Given the description of an element on the screen output the (x, y) to click on. 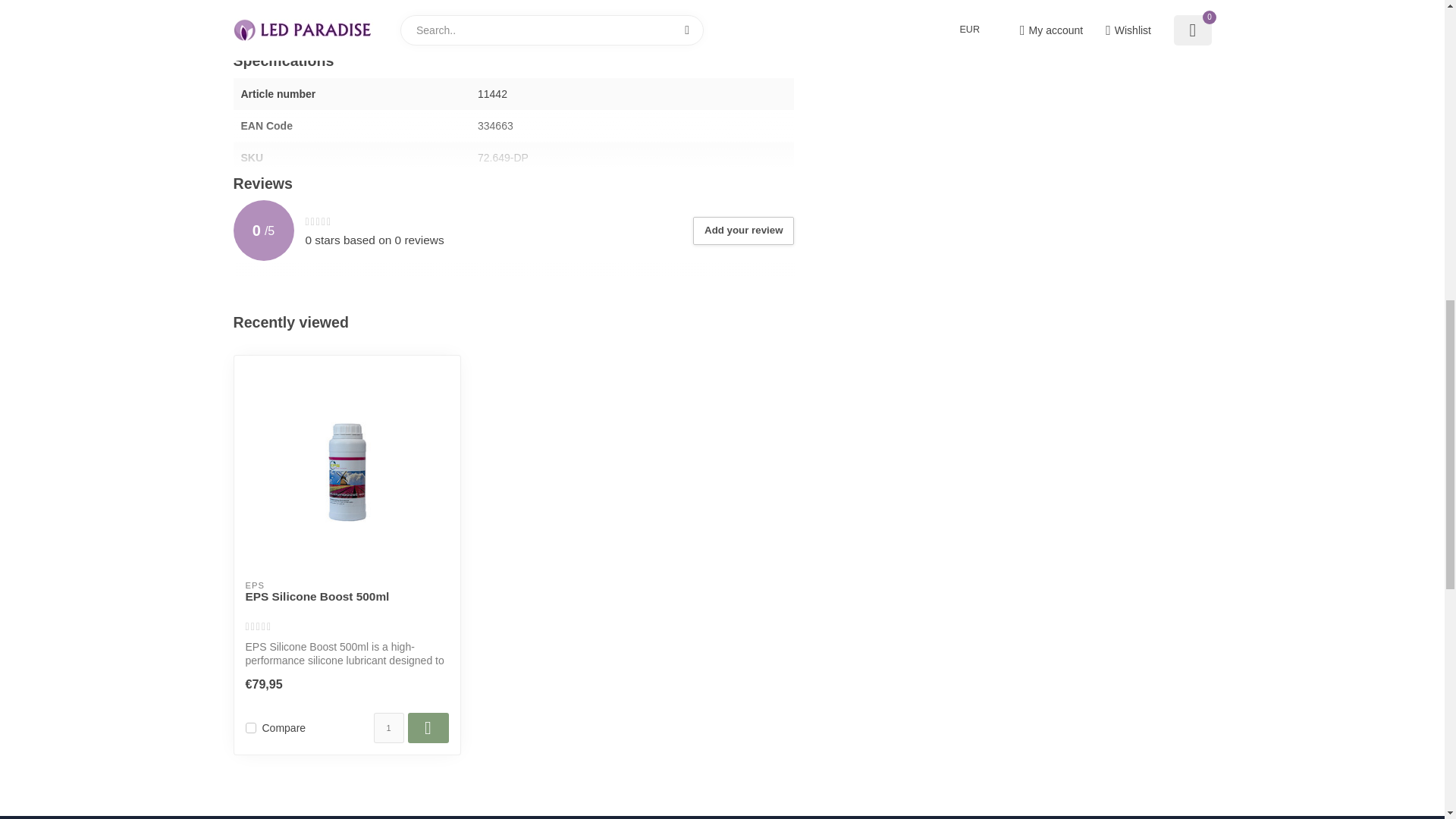
1 (387, 727)
EPS EPS Silicone Boost 500ml (347, 468)
EPS EPS Silicone Boost 500ml (347, 603)
